Given the description of an element on the screen output the (x, y) to click on. 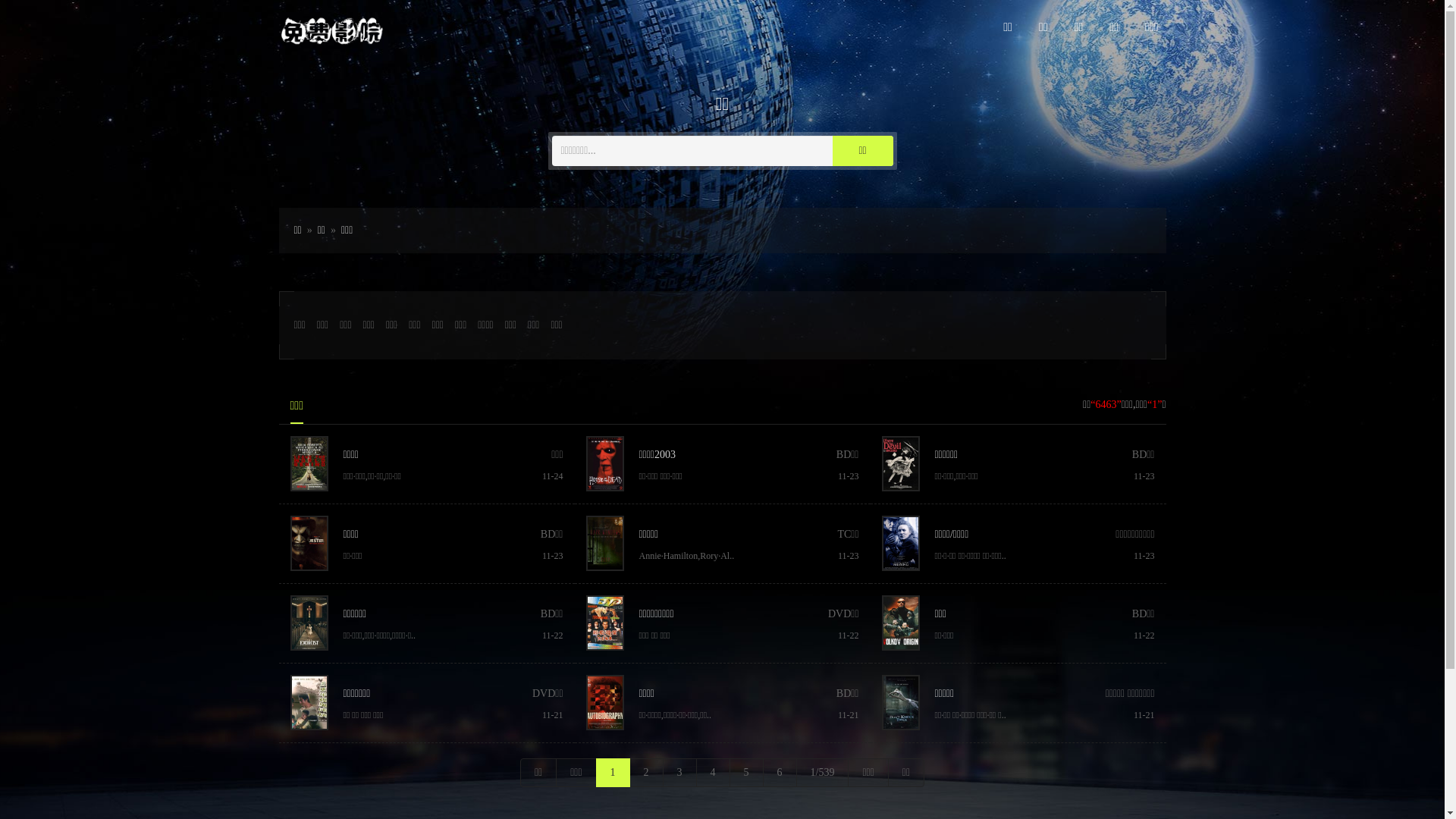
4 Element type: text (713, 772)
2 Element type: text (646, 772)
5 Element type: text (746, 772)
1 Element type: text (613, 772)
6 Element type: text (779, 772)
3 Element type: text (679, 772)
